Given the description of an element on the screen output the (x, y) to click on. 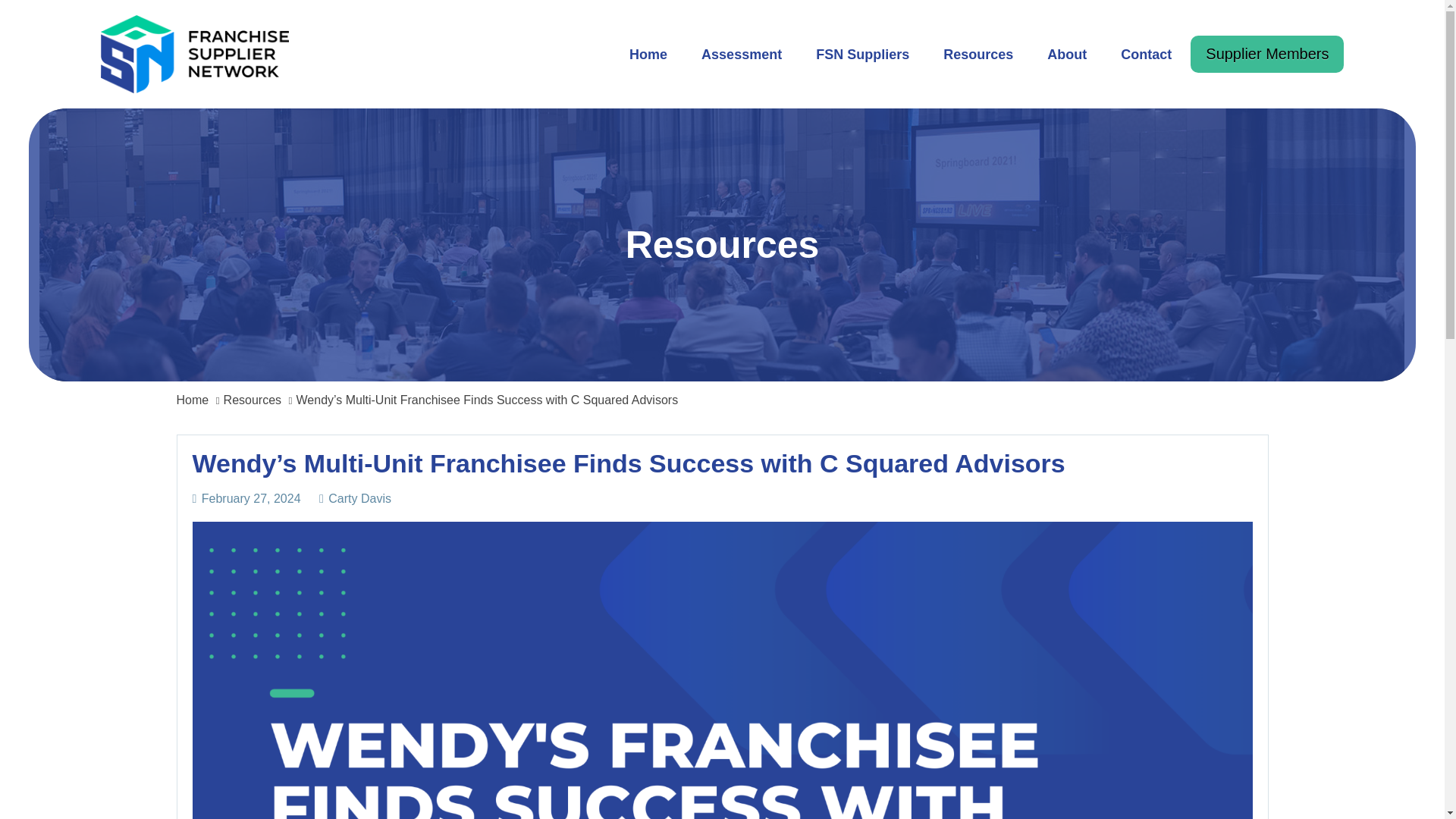
February 27, 2024 (251, 498)
Contact (1145, 53)
Home (192, 399)
Go to Franchise Supplier Network. (192, 399)
Resources (252, 399)
About (1067, 53)
Franchise Supplier Network (194, 26)
FSN Suppliers (862, 53)
Assessment (740, 53)
Go to Resources. (252, 399)
